Given the description of an element on the screen output the (x, y) to click on. 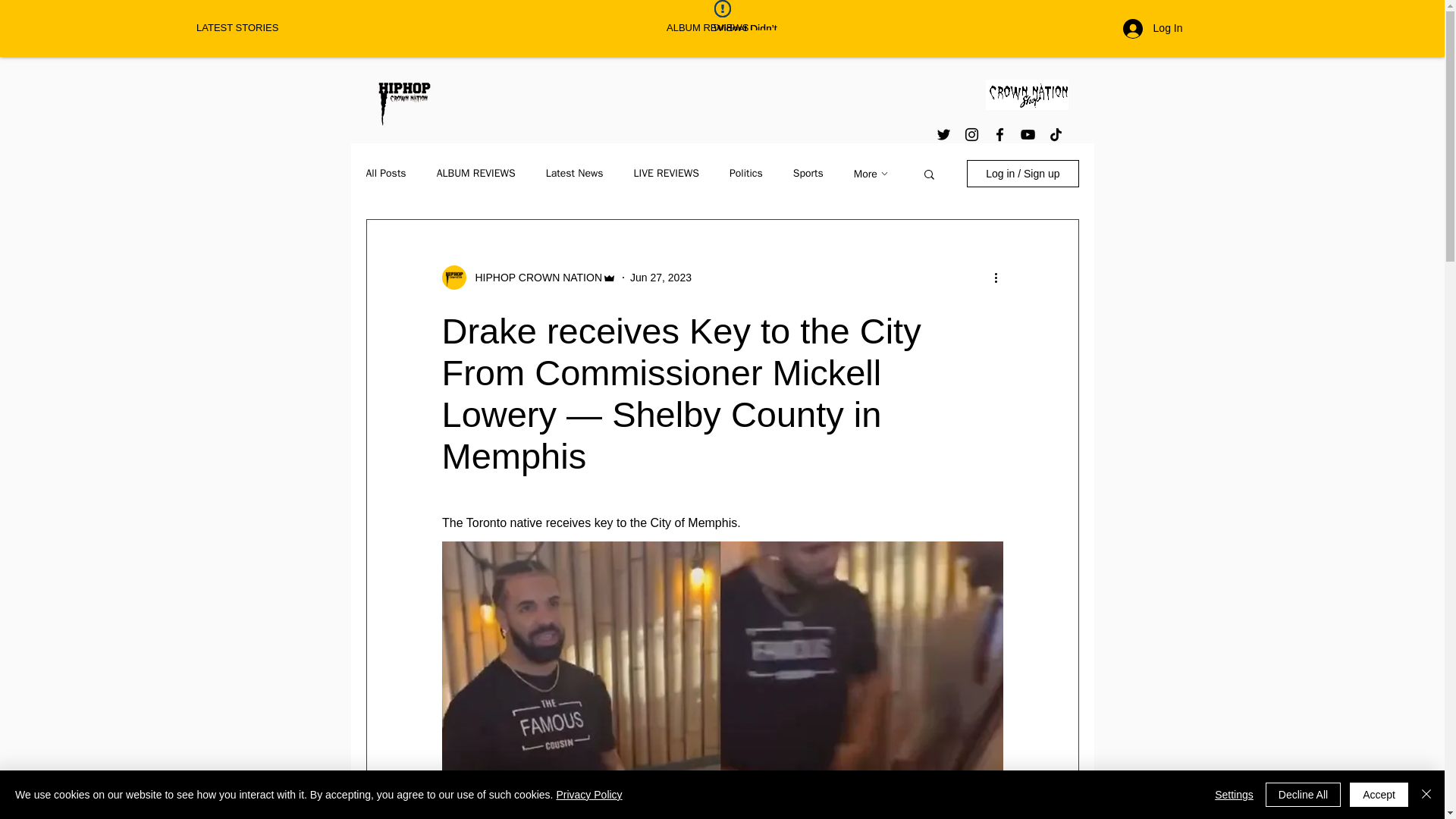
All Posts (385, 173)
Politics (745, 173)
Jun 27, 2023 (660, 277)
Log In (1152, 27)
LIVE REVIEWS (665, 173)
HIPHOP CROWN NATION  (533, 277)
HIPHOP CROWN NATION (528, 277)
Sports (808, 173)
LATEST STORIES (419, 27)
ALBUM REVIEWS (888, 27)
Latest News (575, 173)
ALBUM REVIEWS (475, 173)
